Given the description of an element on the screen output the (x, y) to click on. 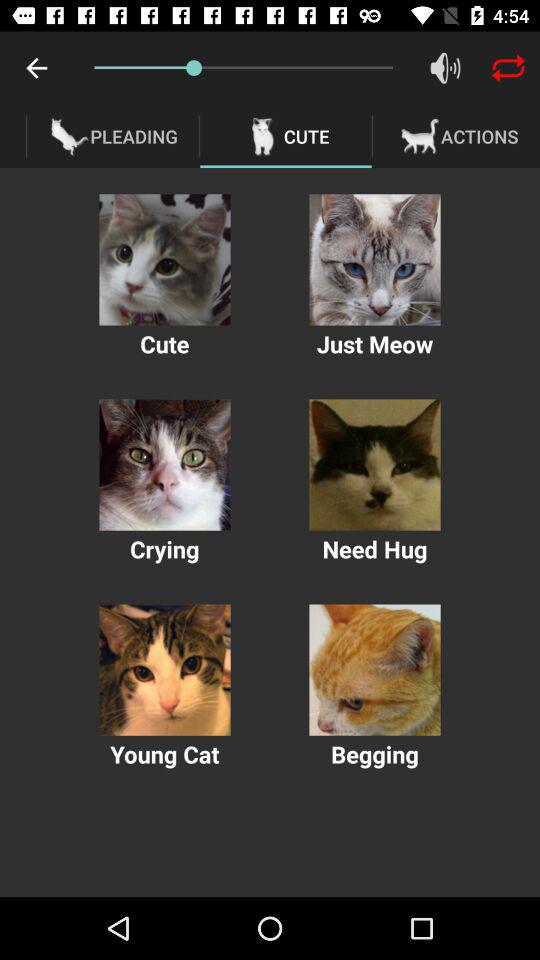
select option (164, 669)
